Given the description of an element on the screen output the (x, y) to click on. 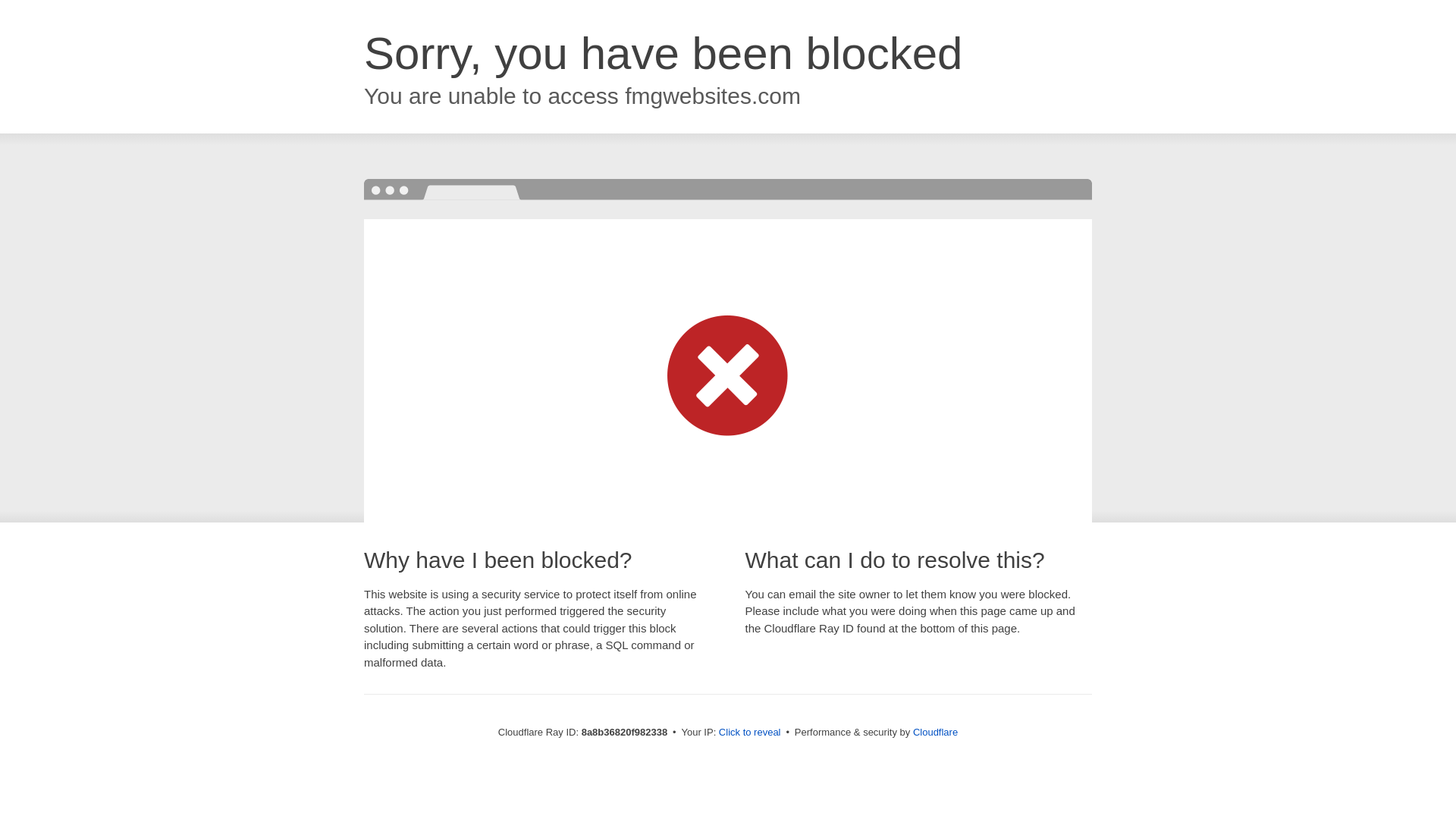
Cloudflare (935, 731)
Click to reveal (749, 732)
